Given the description of an element on the screen output the (x, y) to click on. 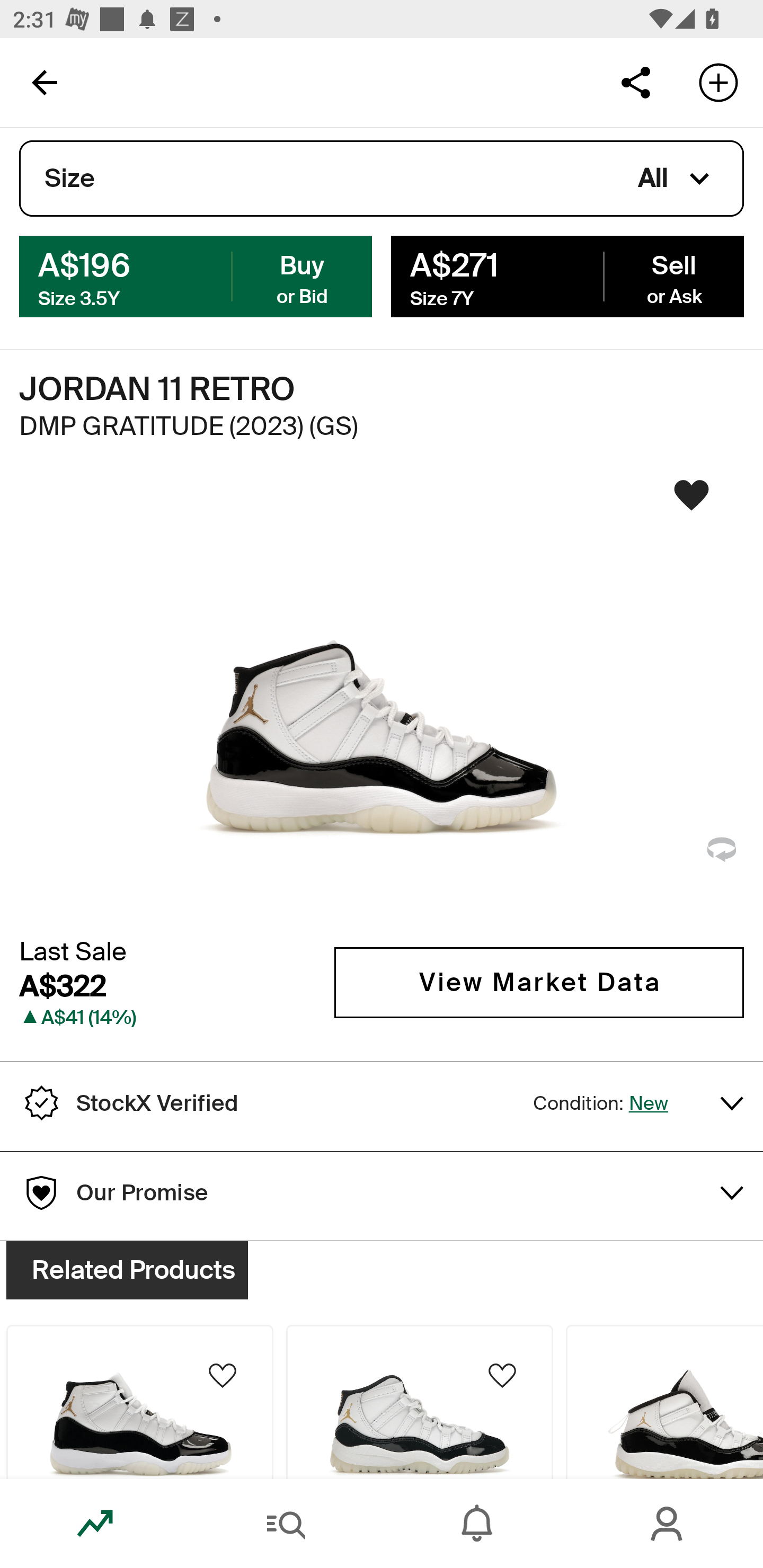
Share (635, 81)
Add (718, 81)
Size All (381, 178)
A$306 Buy Size 7 or Bid (195, 275)
A$437 Sell Size 15 or Ask (566, 275)
Sneaker Image (381, 699)
View Market Data (538, 982)
Product Image (139, 1401)
Product Image (419, 1401)
Product Image (664, 1401)
Search (285, 1523)
Inbox (476, 1523)
Account (667, 1523)
